Given the description of an element on the screen output the (x, y) to click on. 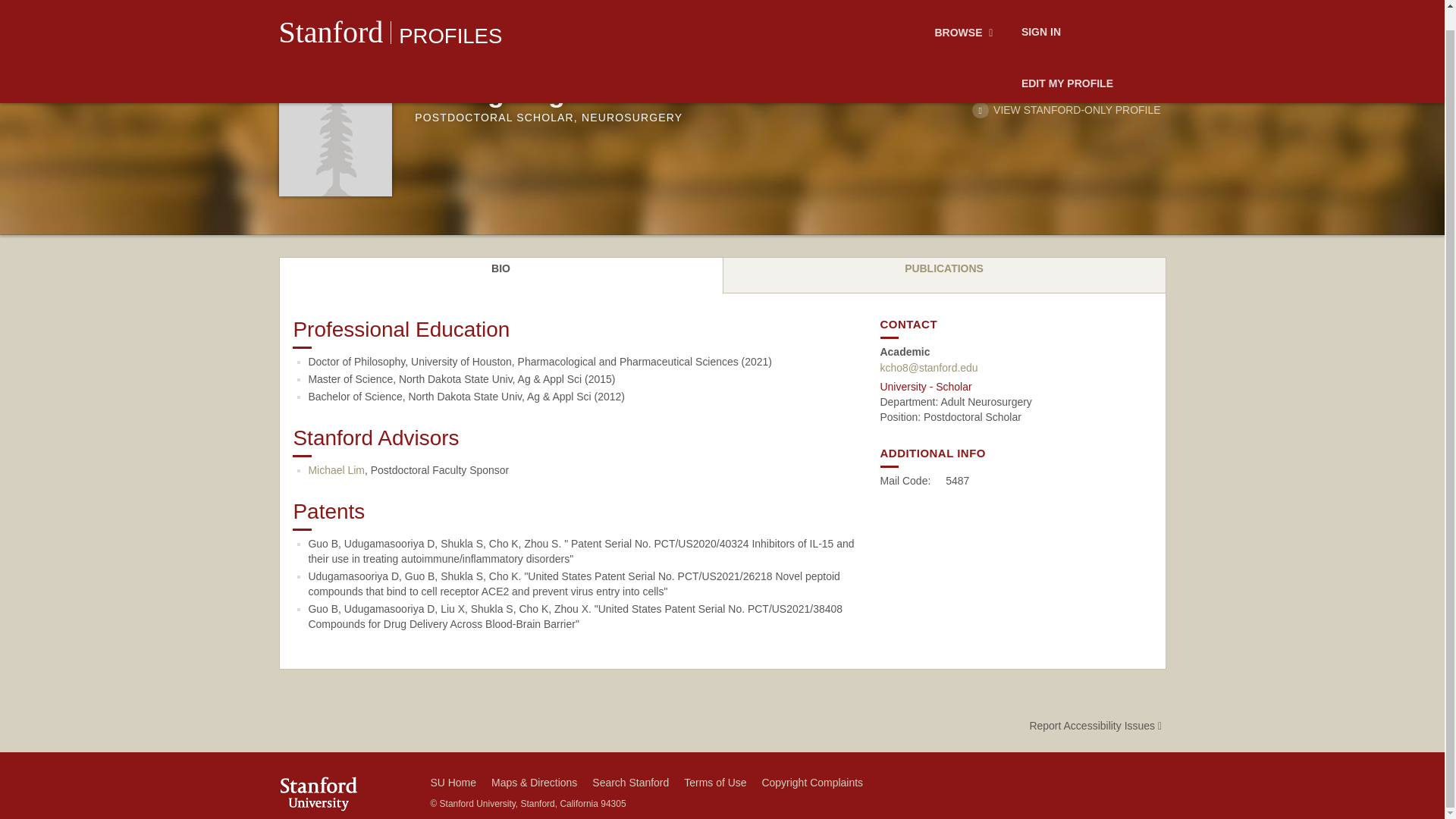
SIGN IN (1040, 15)
Stanford (331, 14)
VIEW STANFORD-ONLY PROFILE (1066, 110)
PRINT PROFILE (1000, 87)
EDIT MY PROFILE (1067, 64)
PROFILES (450, 15)
EMAIL PROFILE (1109, 87)
BROWSE (966, 15)
